Given the description of an element on the screen output the (x, y) to click on. 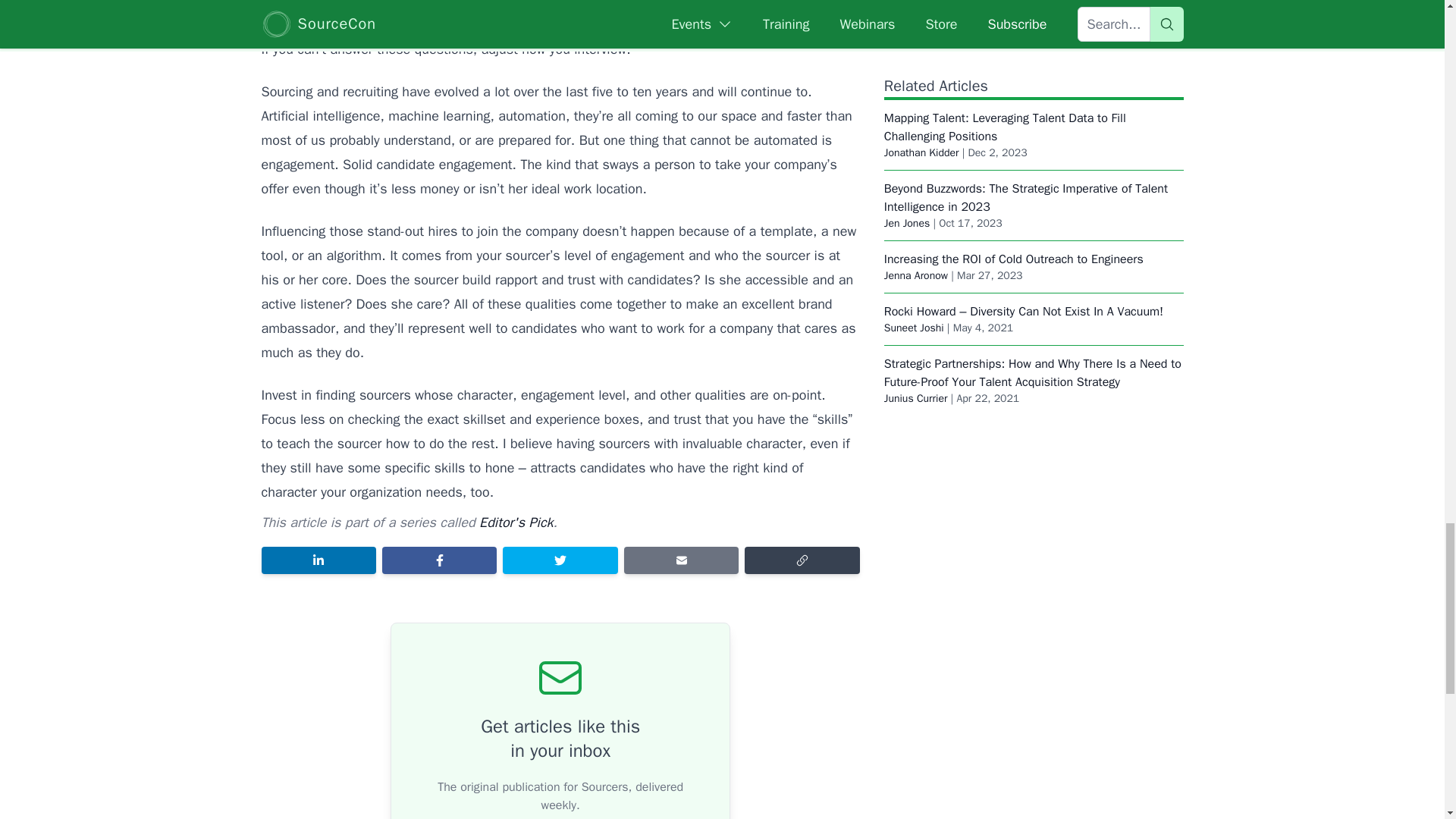
Increasing the ROI of Cold Outreach to Engineers (1012, 193)
Jen Jones (906, 157)
Jonathan Kidder (921, 87)
Jenna Aronow (915, 210)
Editor's Pick (516, 522)
